Given the description of an element on the screen output the (x, y) to click on. 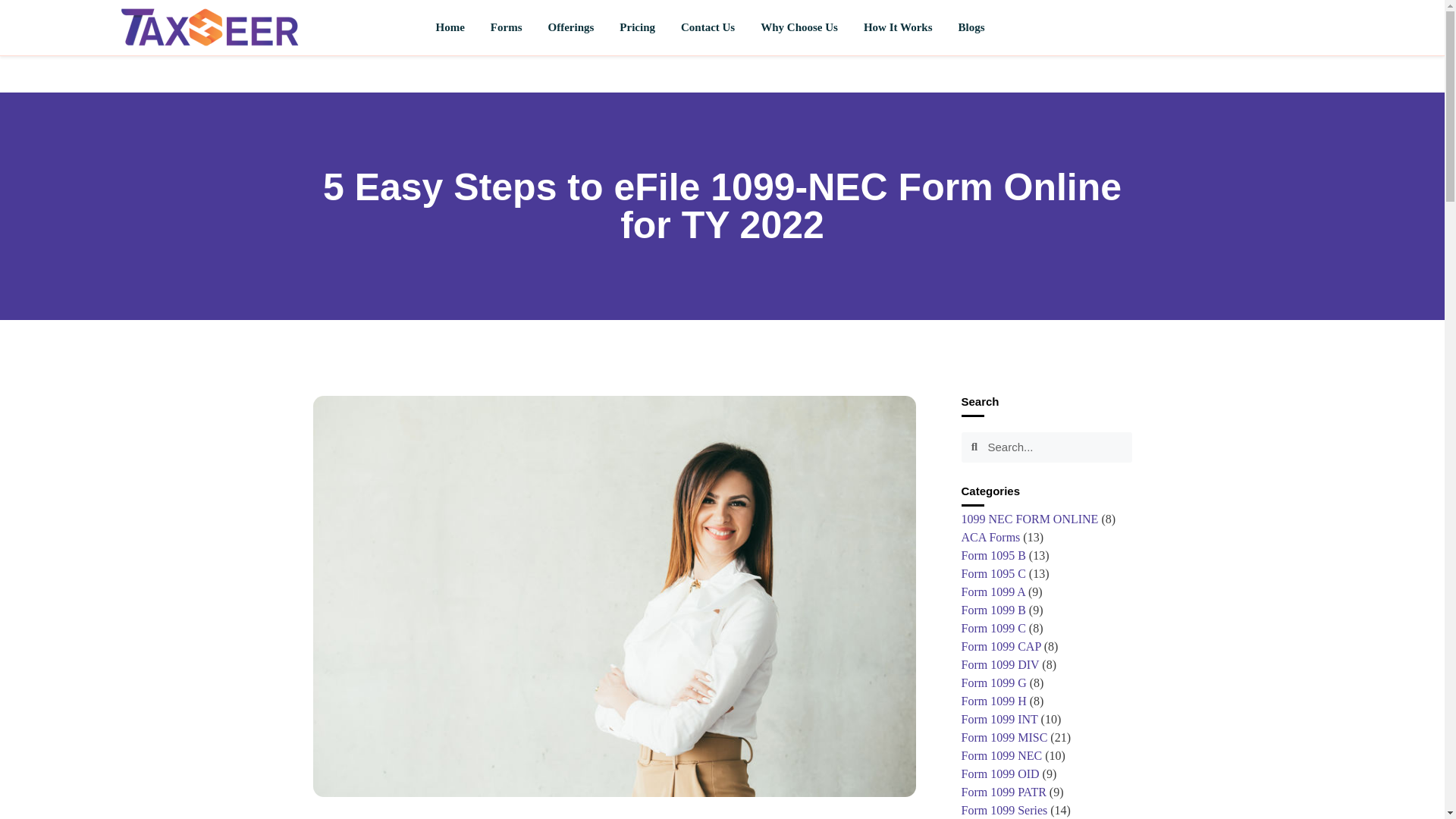
Form 1099 NEC (1001, 755)
Search (1053, 447)
Form 1095 B (993, 554)
Form 1099 DIV (999, 664)
Form 1099 H (993, 700)
Form 1099 C (993, 627)
ACA Forms (990, 536)
Form 1099 OID (999, 773)
Form 1099 B (993, 609)
Home (450, 27)
